Given the description of an element on the screen output the (x, y) to click on. 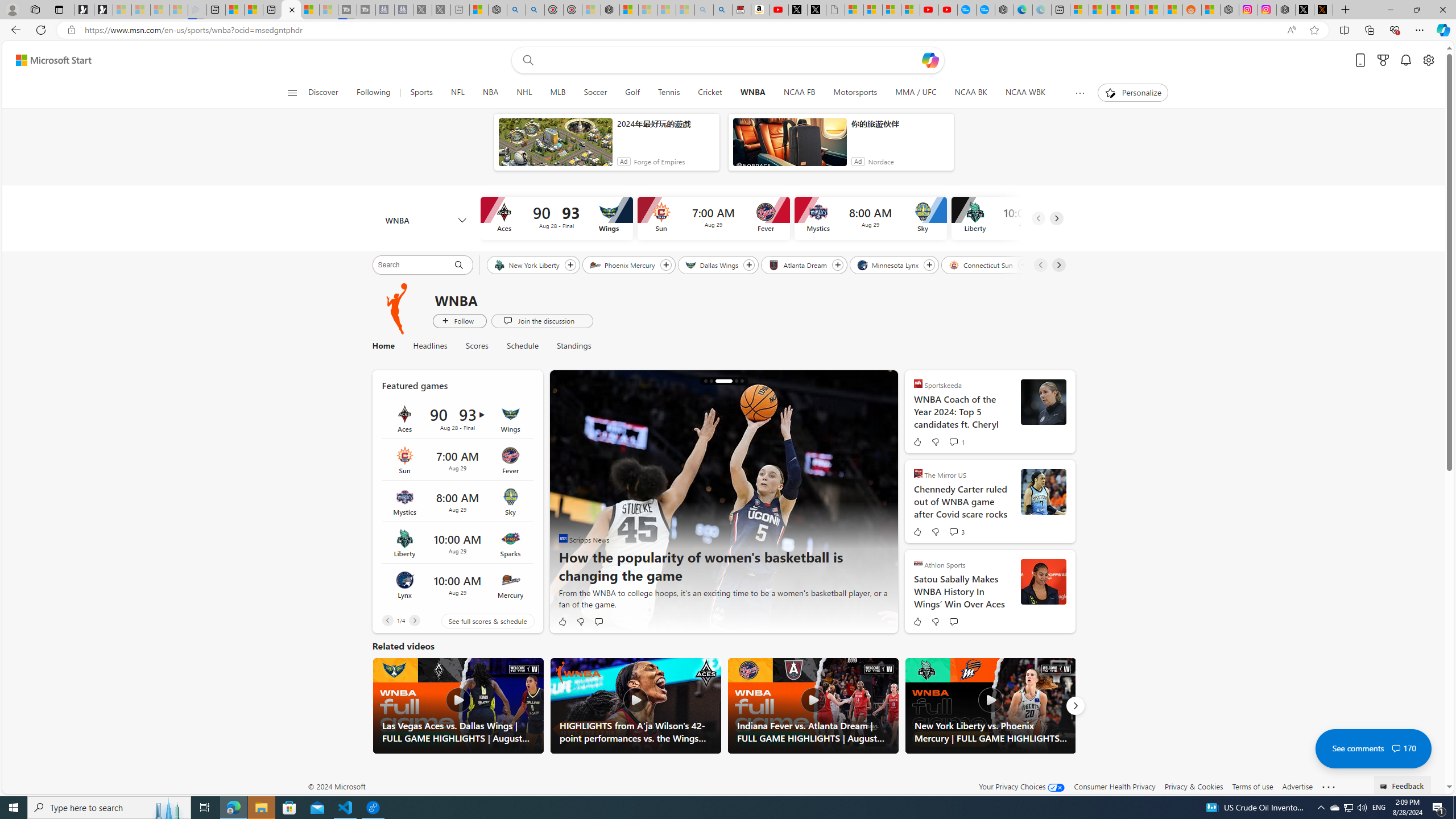
Web search (526, 60)
Gloom - YouTube (929, 9)
amazon - Search - Sleeping (703, 9)
Home (387, 345)
Like (916, 621)
Class: oneFooter_seeMore-DS-EntryPoint1-1 (1328, 786)
Scripps News (563, 537)
Follow Dallas Wings (749, 265)
Class: cwt-icon-vector (1395, 748)
Forge of Empires (658, 161)
YouTube Kids - An App Created for Kids to Explore Content (947, 9)
